Given the description of an element on the screen output the (x, y) to click on. 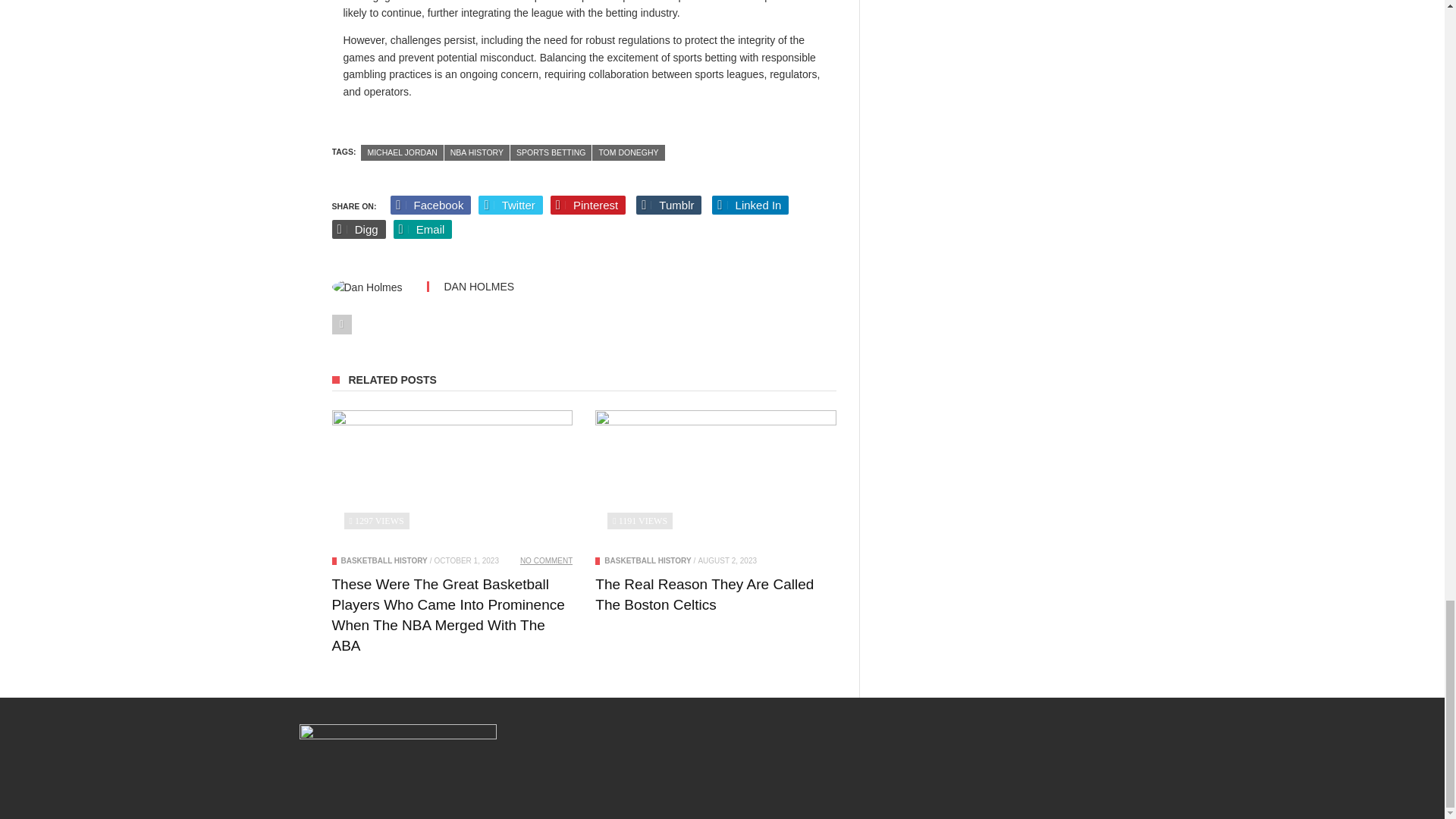
Website (341, 324)
Tom Doneghy (627, 152)
sports betting (551, 152)
nba history (476, 152)
Michael Jordan (401, 152)
Basketball History (384, 560)
